Given the description of an element on the screen output the (x, y) to click on. 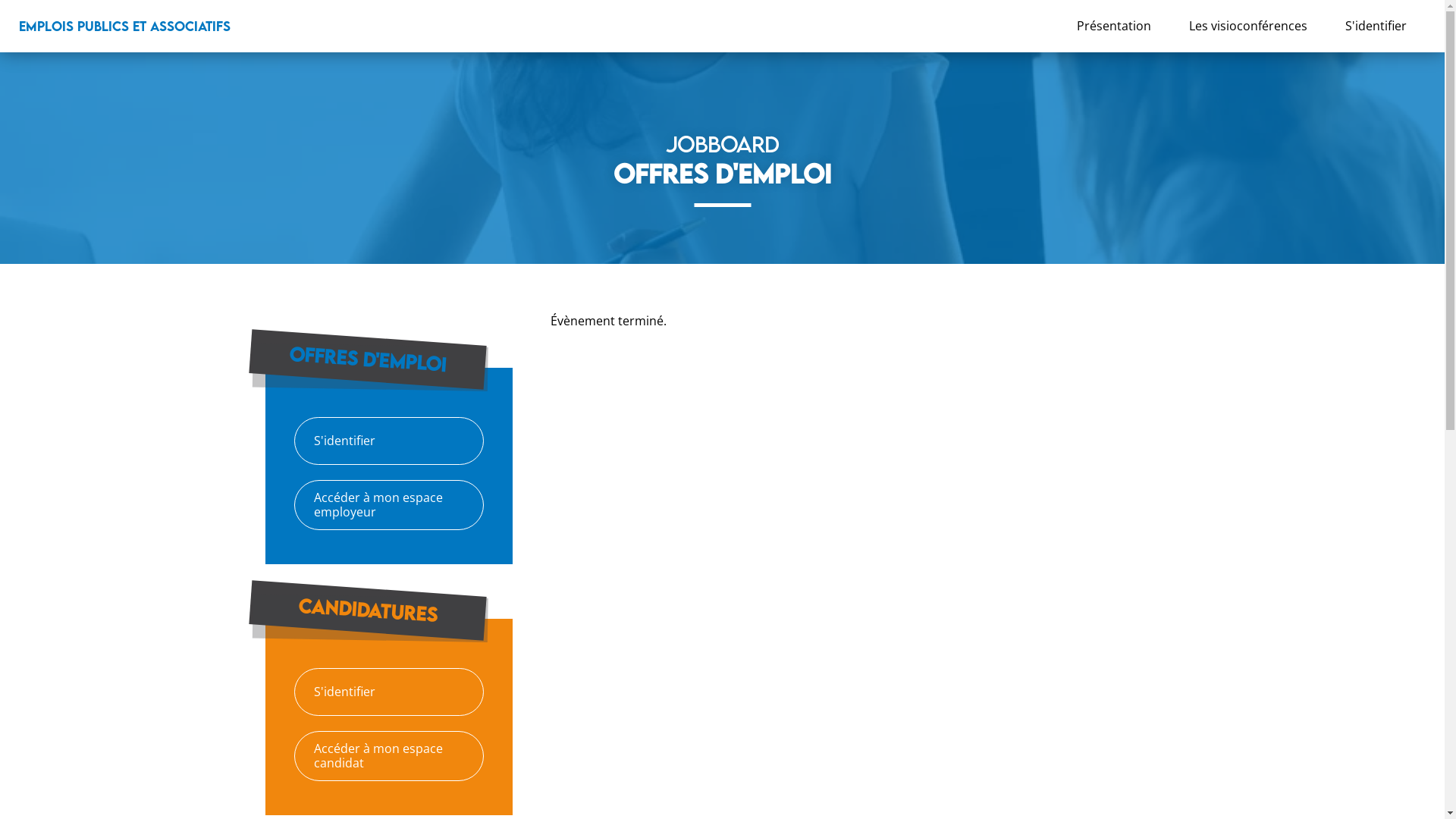
S'identifier Element type: text (388, 691)
EMPLOIS PUBLICS ET ASSOCIATIFS Element type: text (124, 26)
S'identifier Element type: text (1375, 25)
S'identifier Element type: text (388, 440)
